Given the description of an element on the screen output the (x, y) to click on. 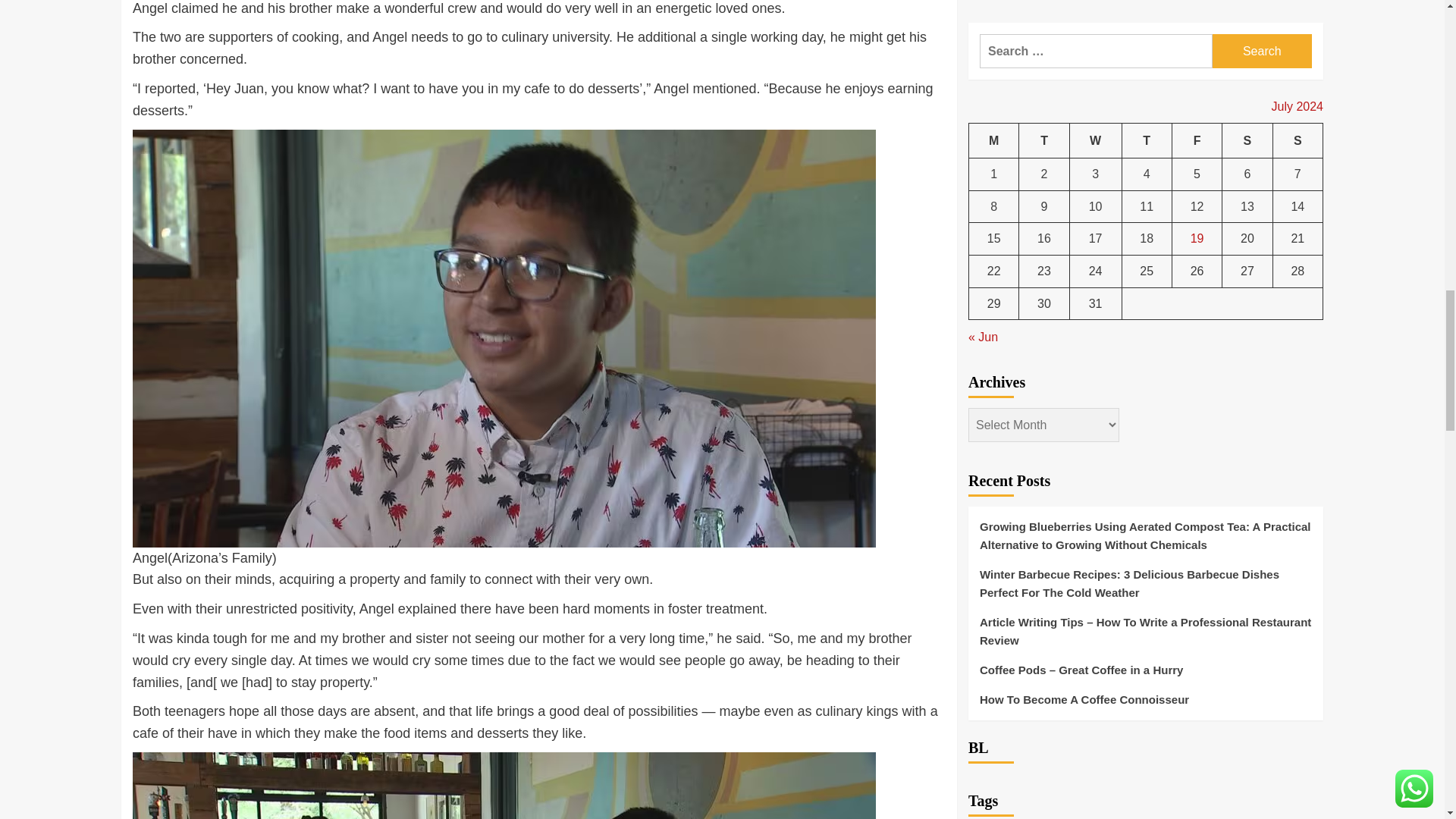
Seedbacklink (986, 263)
